Given the description of an element on the screen output the (x, y) to click on. 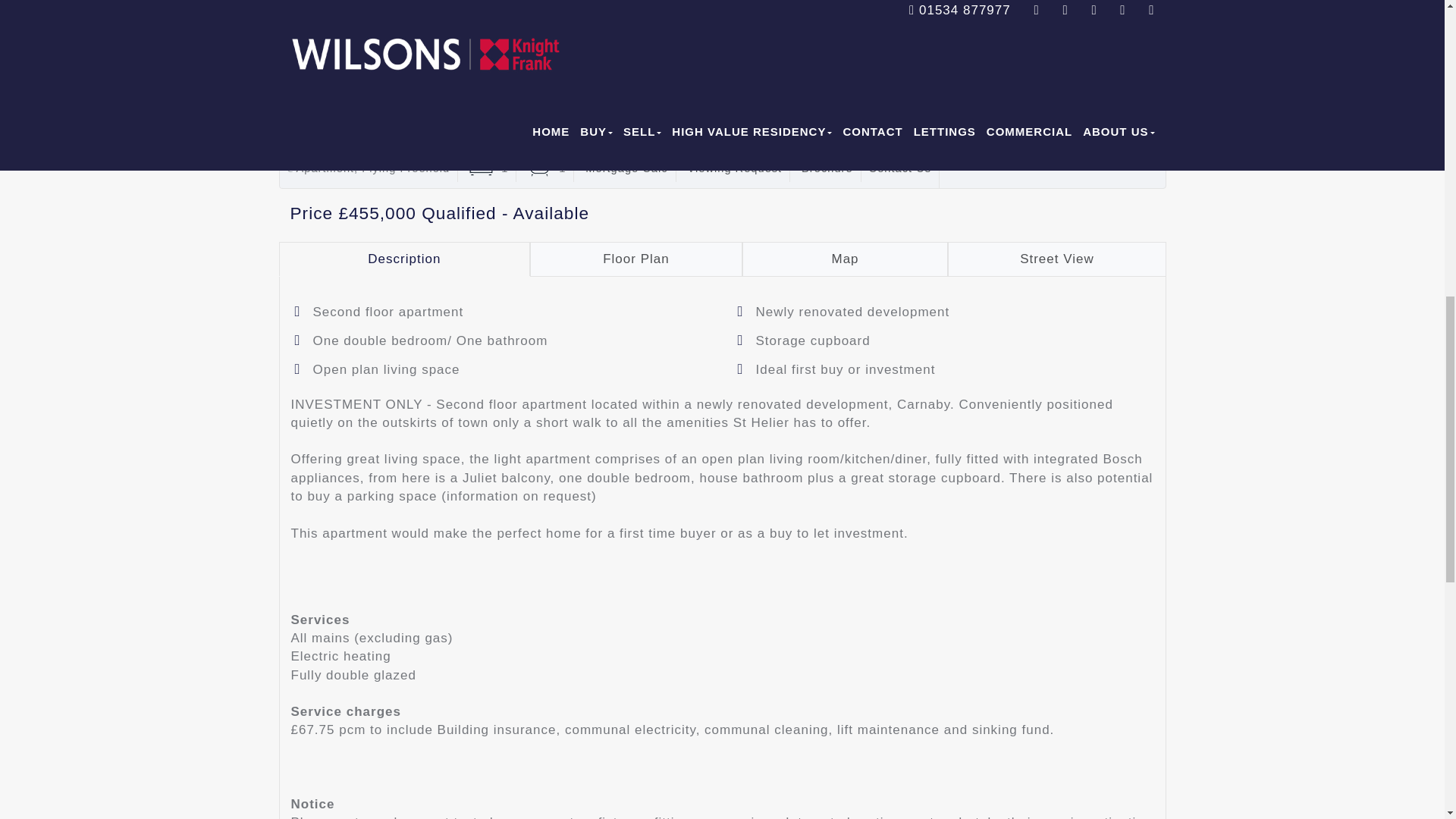
Street View (1056, 258)
Map (845, 258)
Contact Us (900, 168)
Floor Plan (635, 258)
Description (405, 257)
Viewing Request (734, 168)
Brochure (826, 168)
Mortgage Calc (625, 168)
